Given the description of an element on the screen output the (x, y) to click on. 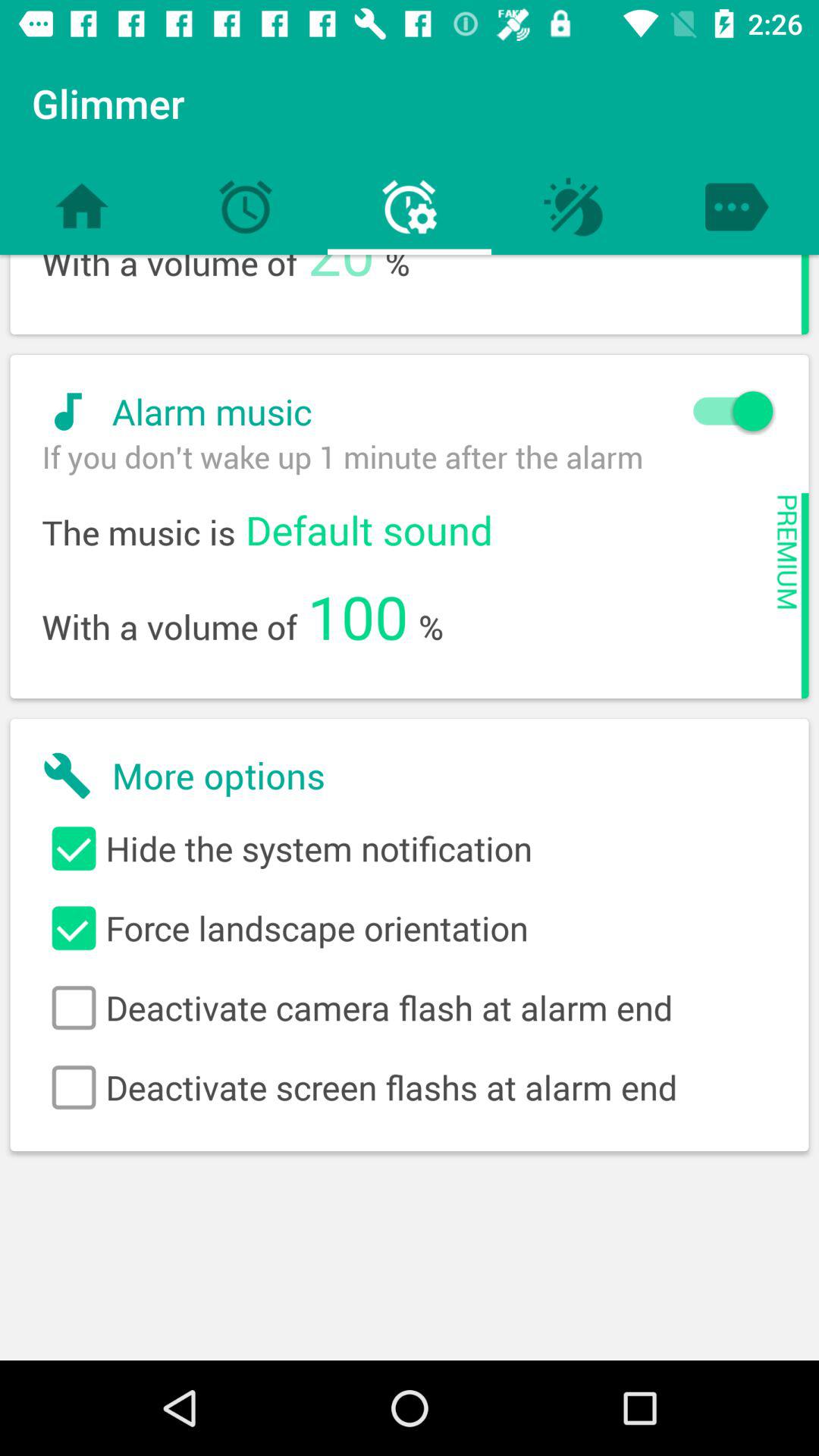
launch alarm music (400, 411)
